Given the description of an element on the screen output the (x, y) to click on. 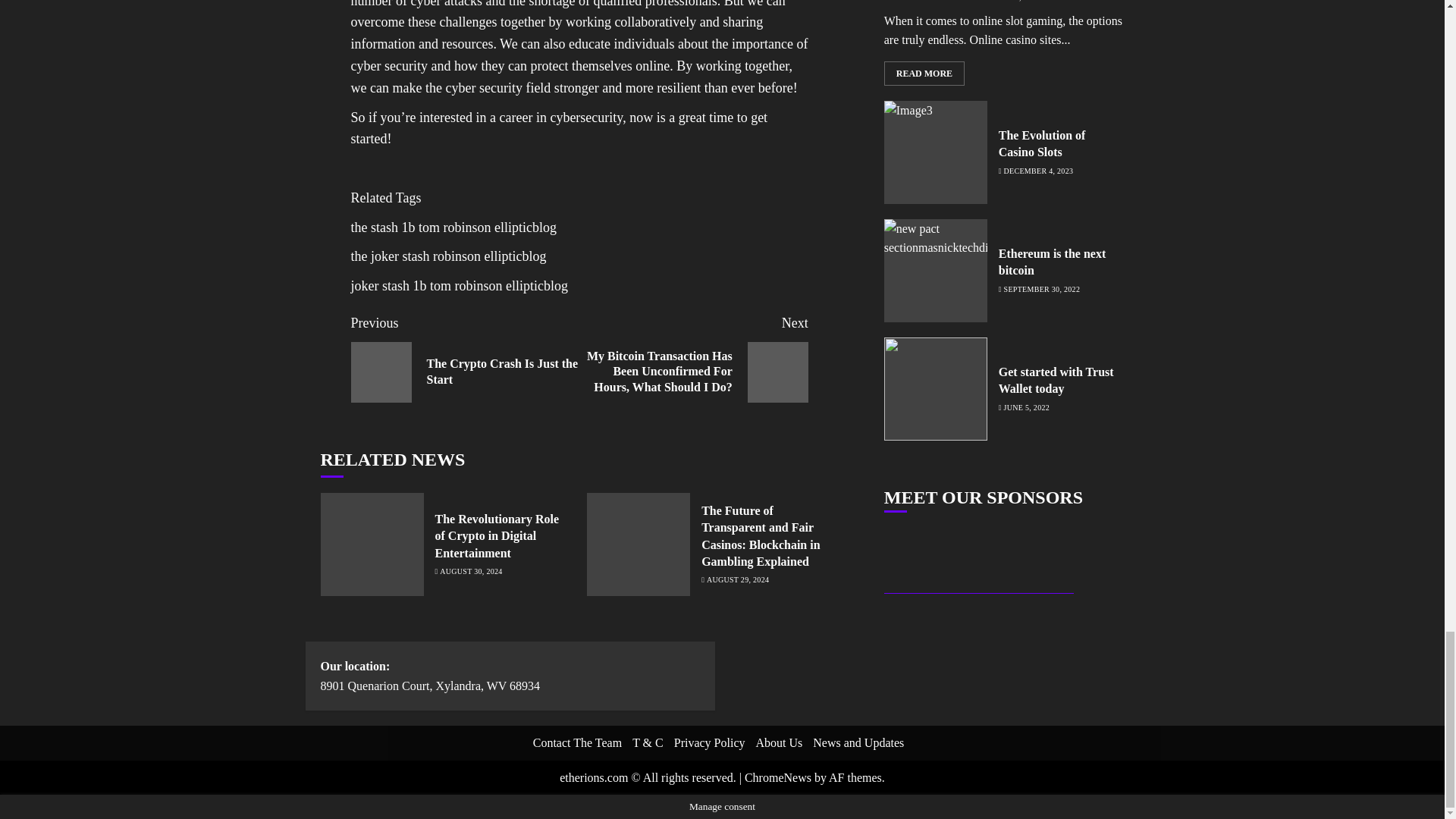
The Revolutionary Role of Crypto in Digital Entertainment (497, 536)
AUGUST 29, 2024 (737, 579)
AUGUST 30, 2024 (464, 357)
